Given the description of an element on the screen output the (x, y) to click on. 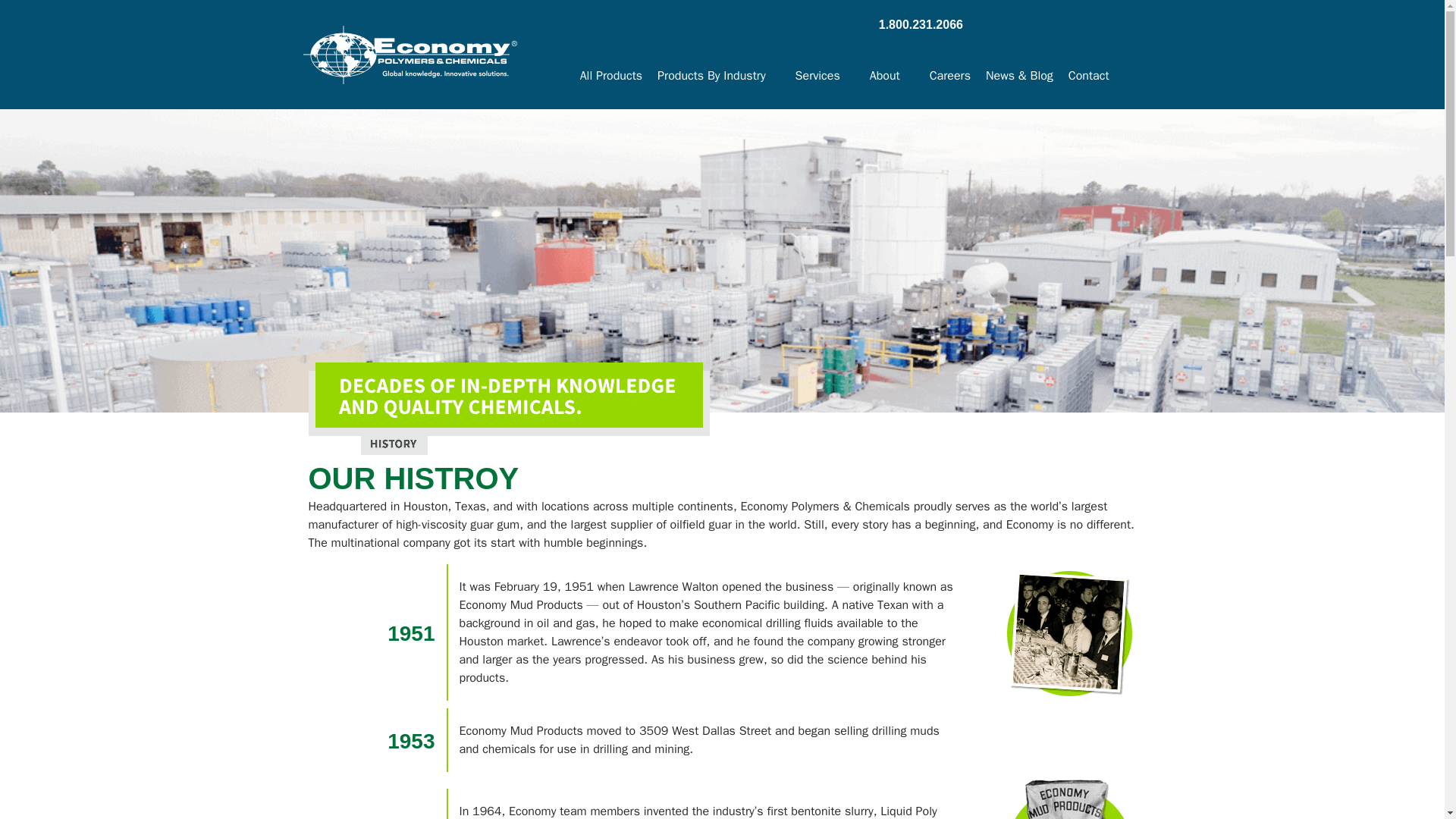
All Products (610, 75)
1.800.231.2066 (920, 24)
Careers (949, 75)
Economy poly-gel (1069, 799)
Services (824, 75)
Contact (1085, 75)
Decades of in-depth knowledge and quality chemical (508, 408)
Products By Industry (718, 75)
About (891, 75)
Group eating dinner (1069, 633)
